Given the description of an element on the screen output the (x, y) to click on. 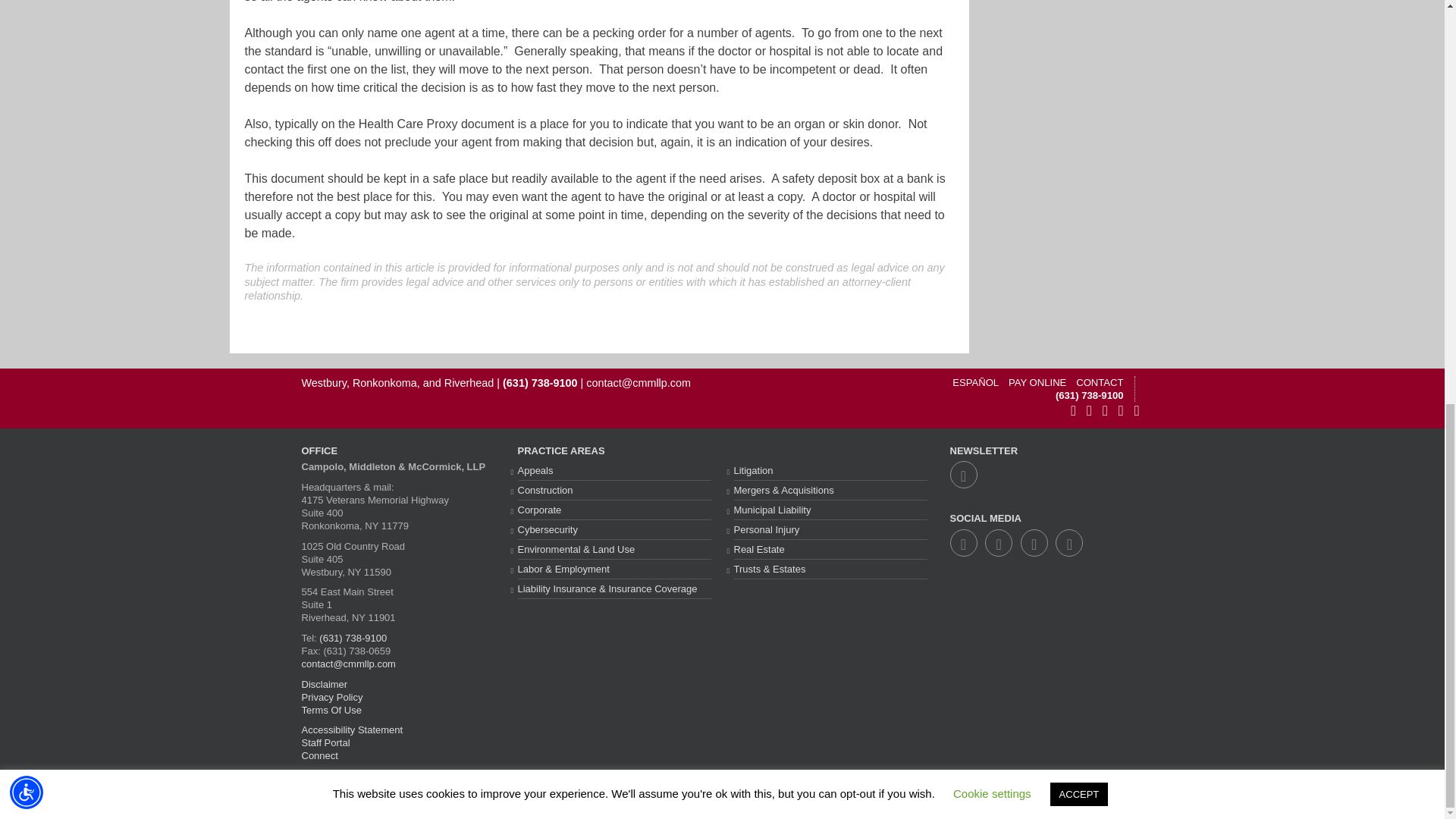
Accessibility Menu (26, 6)
